Given the description of an element on the screen output the (x, y) to click on. 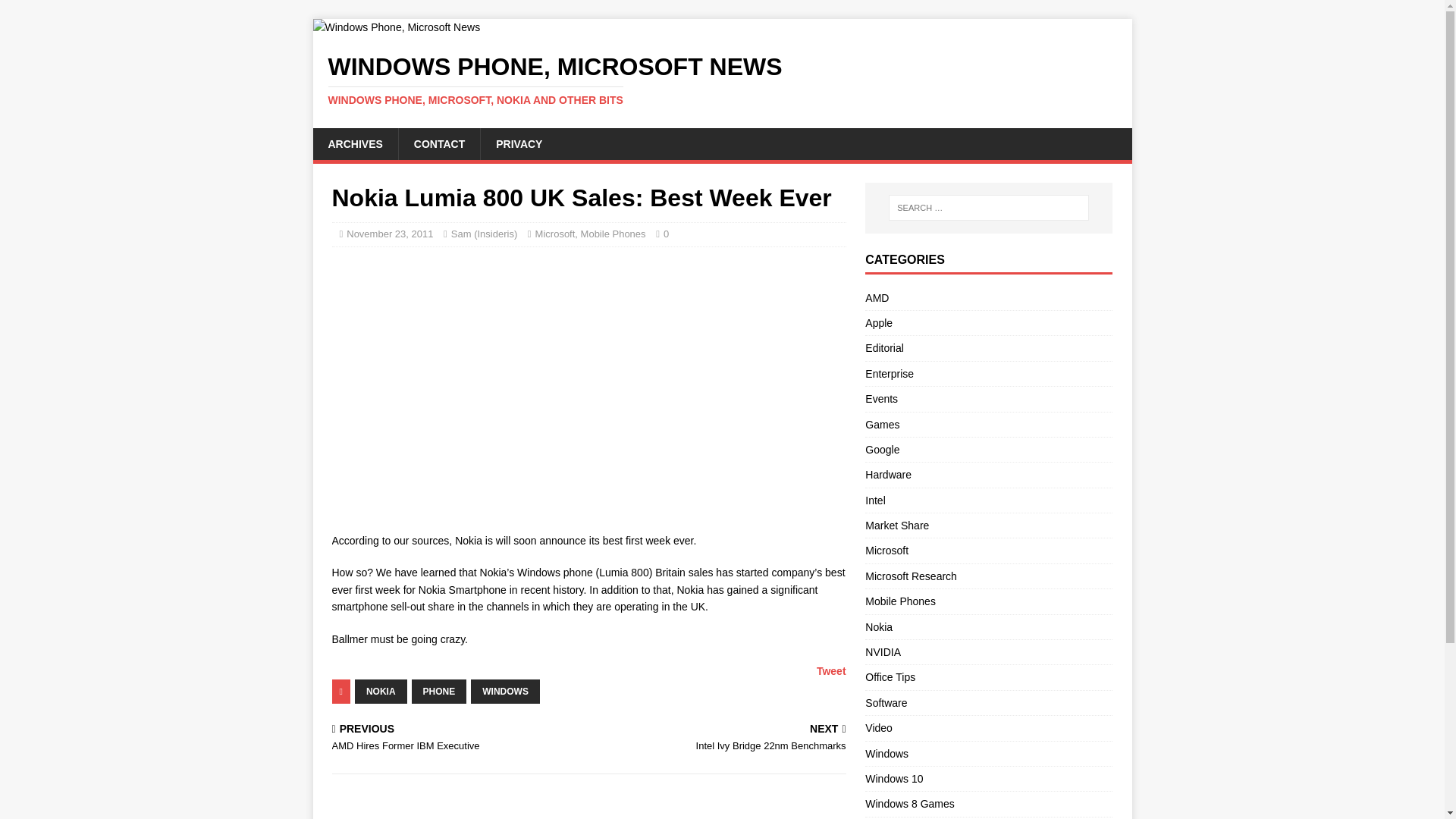
Market Share (988, 525)
ARCHIVES (355, 143)
Microsoft (555, 233)
Events (988, 398)
NVIDIA (988, 651)
Tweet (830, 671)
Editorial (988, 347)
Mobile Phones (613, 233)
Google (988, 449)
